Given the description of an element on the screen output the (x, y) to click on. 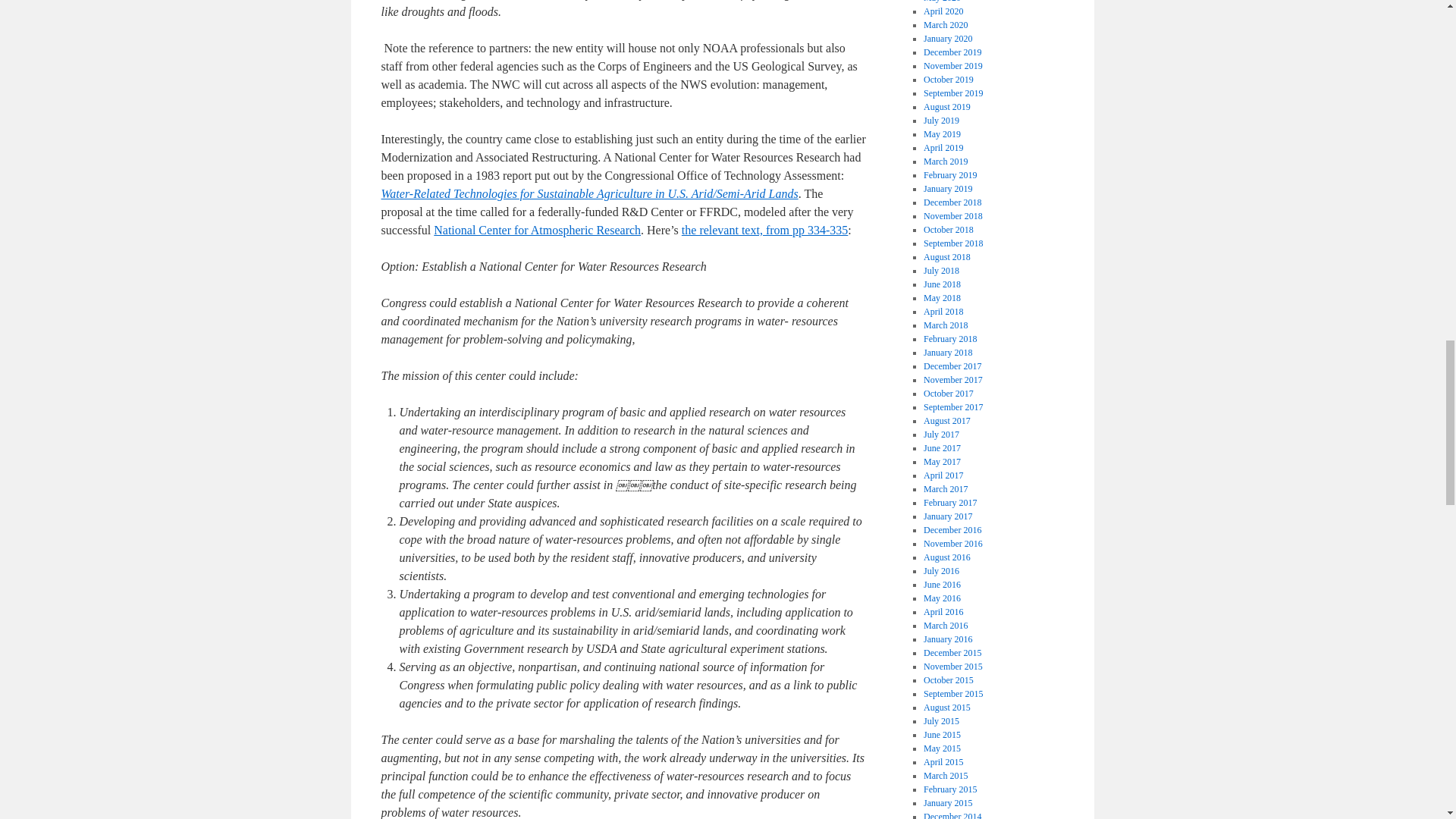
the relevant text, from pp 334-335 (764, 229)
National Center for Atmospheric Research (536, 229)
